Given the description of an element on the screen output the (x, y) to click on. 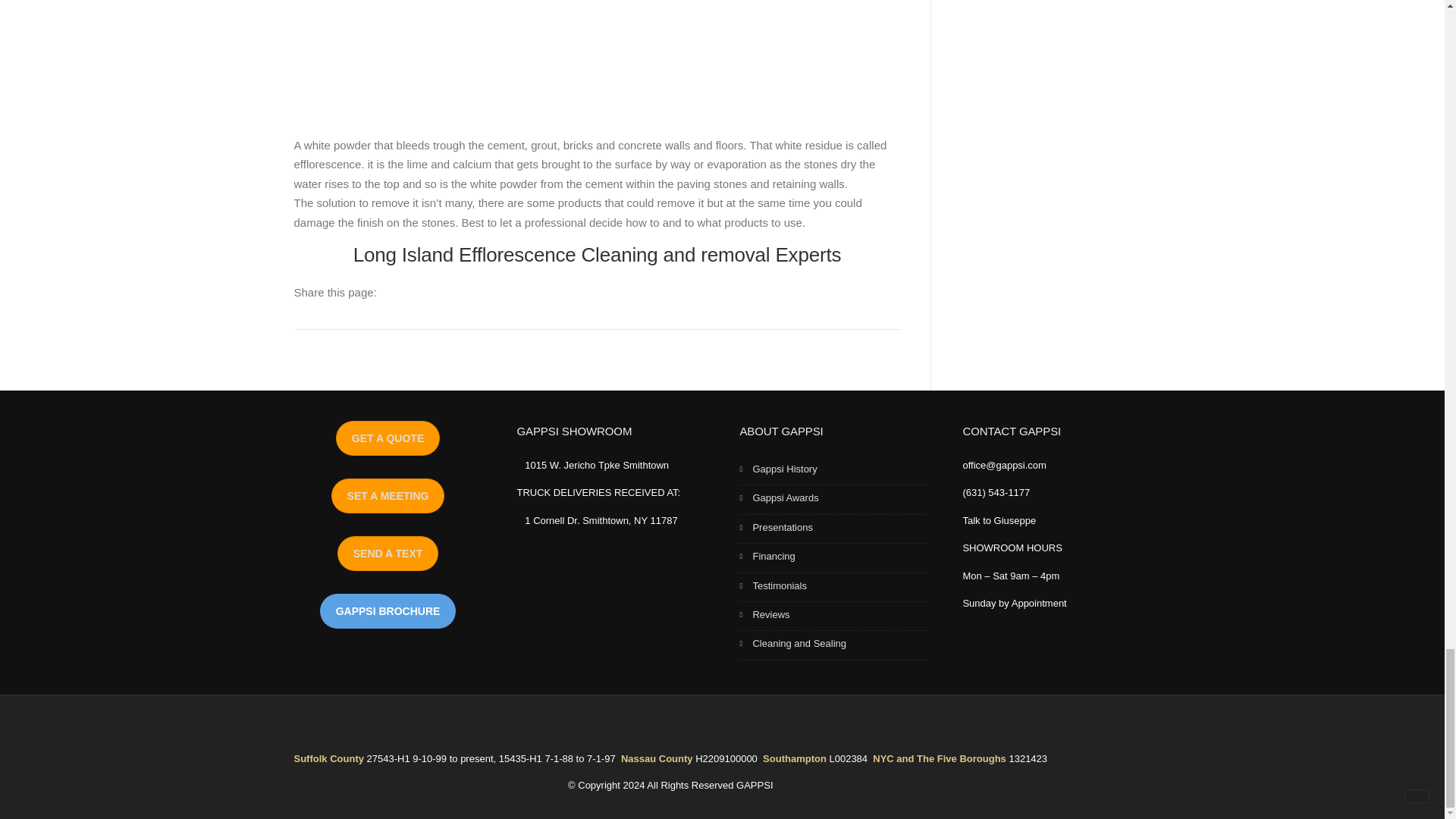
Long Island Efflorescence Cleaning and removal Experts (597, 254)
Contact Us Form Page (387, 437)
